Given the description of an element on the screen output the (x, y) to click on. 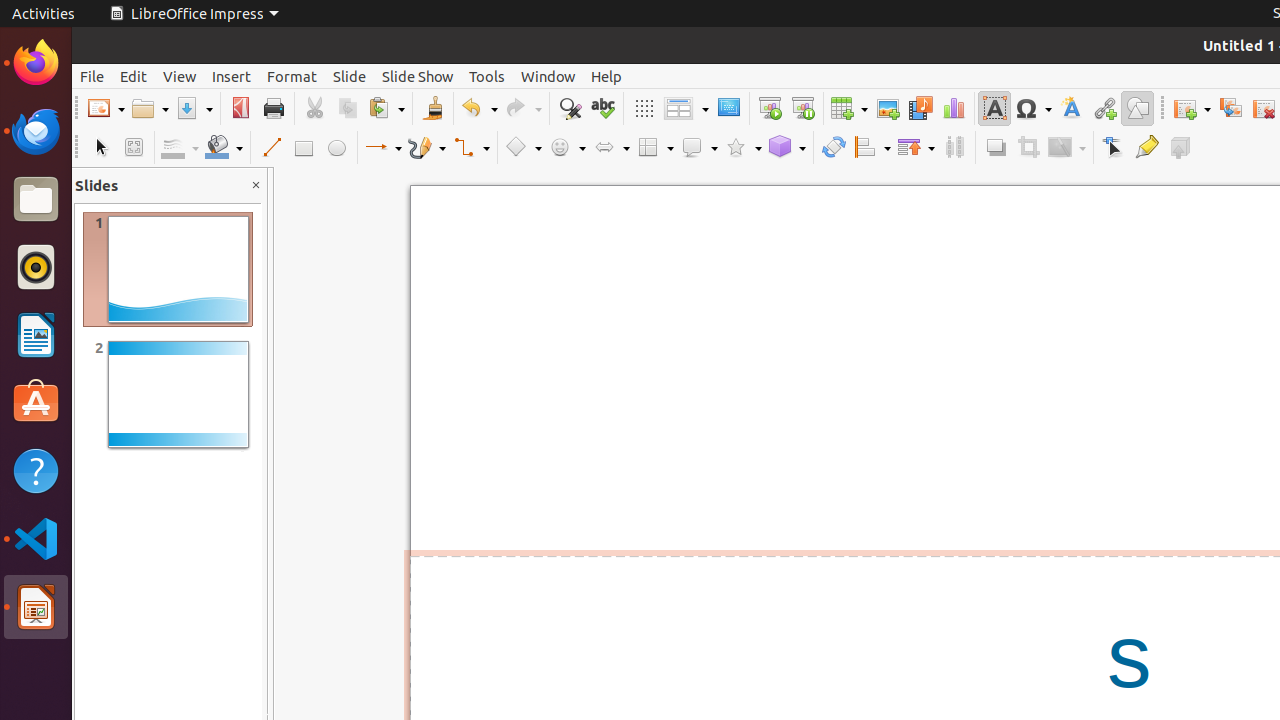
Slide Element type: menu (349, 76)
Copy Element type: push-button (347, 108)
Spelling Element type: push-button (602, 108)
Symbol Element type: push-button (1033, 108)
Filter Element type: push-button (1067, 147)
